Given the description of an element on the screen output the (x, y) to click on. 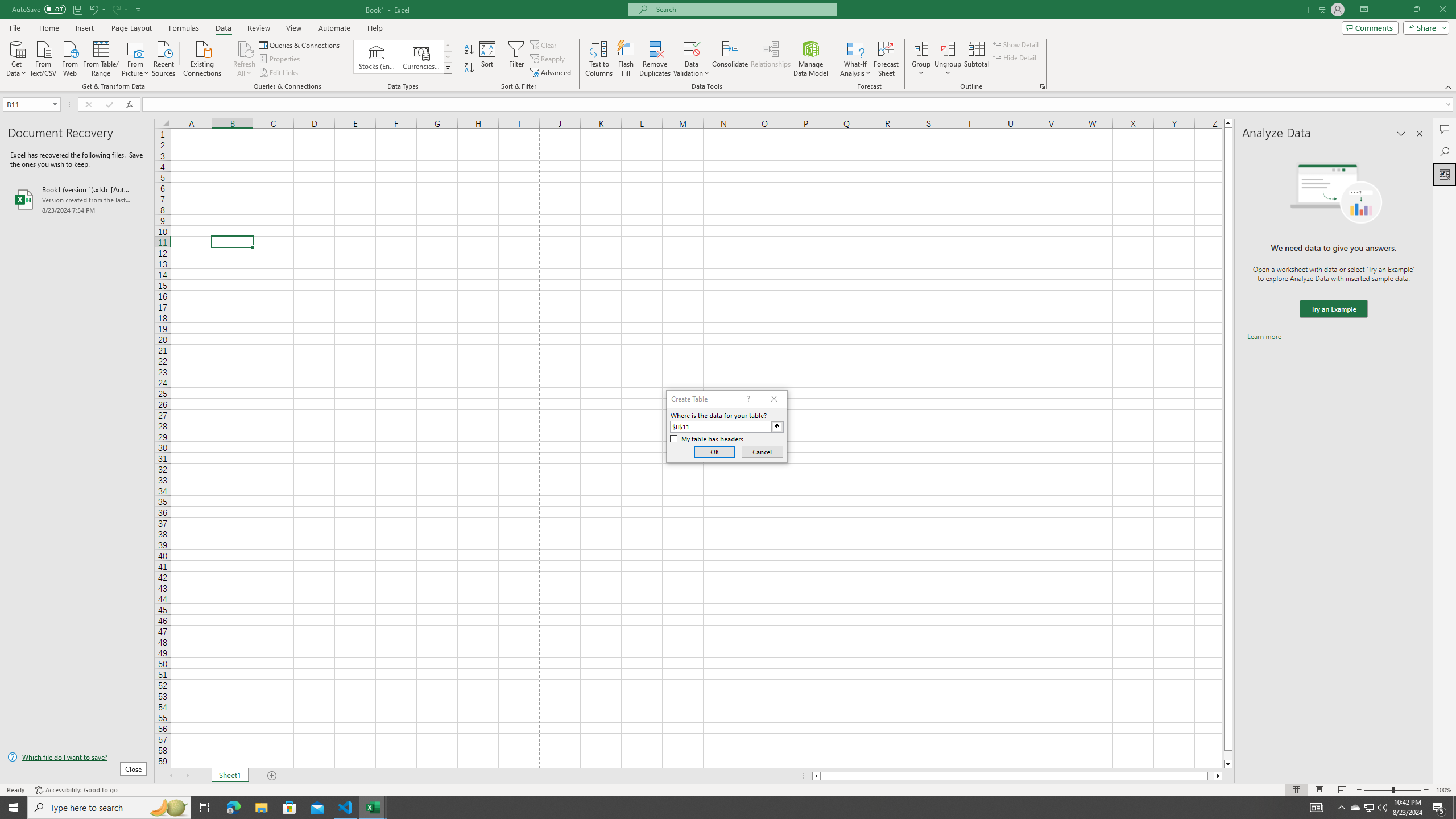
Manage Data Model (810, 58)
From Table/Range (100, 57)
Page Break Preview (1342, 790)
We need data to give you answers. Try an Example (1333, 308)
Row Down (448, 56)
Page right (1211, 775)
Comments (1444, 128)
Accessibility Checker Accessibility: Good to go (76, 790)
Class: NetUIScrollBar (1016, 775)
Line down (1228, 764)
Column right (1218, 775)
Text to Columns... (598, 58)
Data Validation... (691, 58)
